Given the description of an element on the screen output the (x, y) to click on. 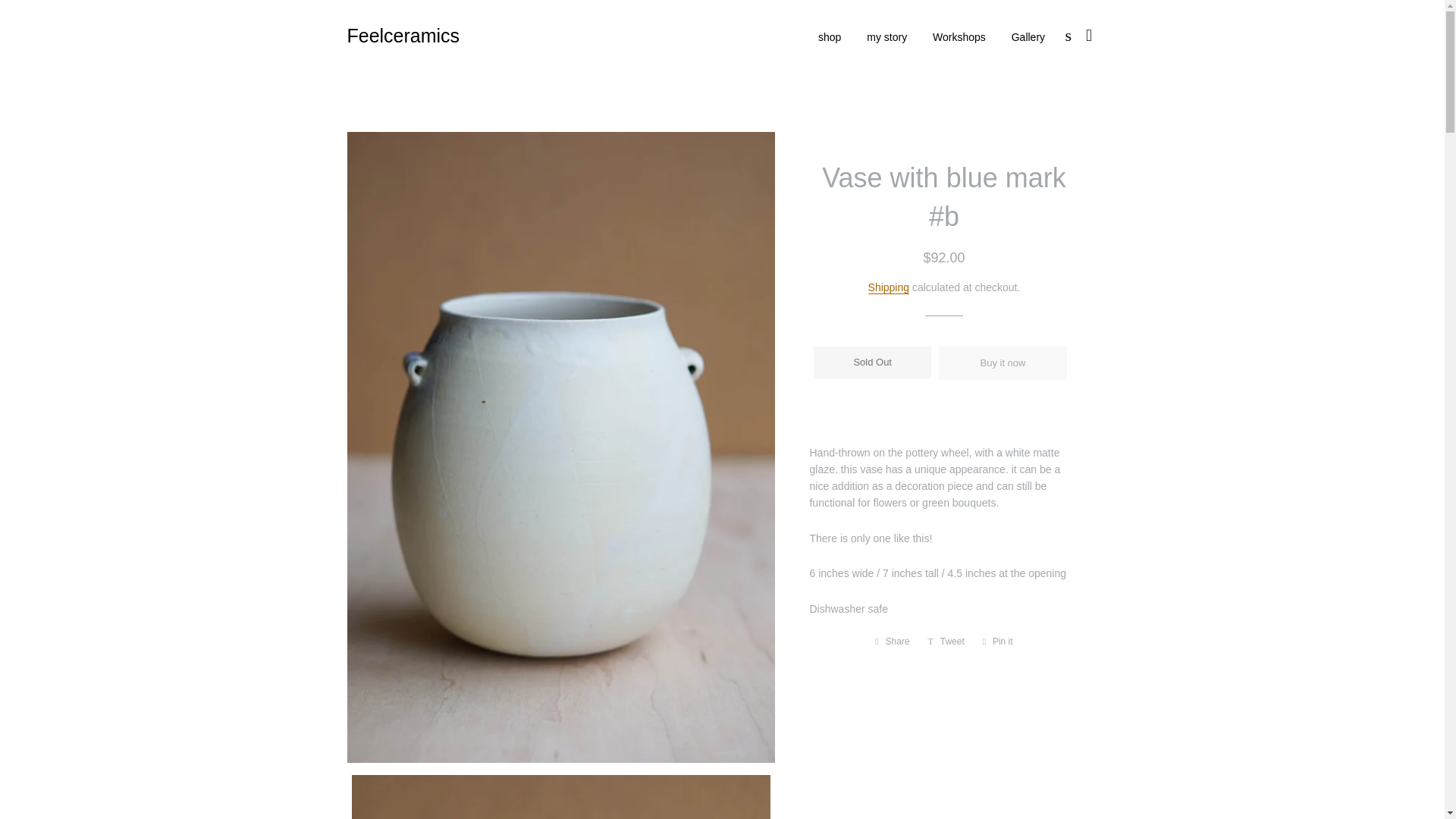
Sold Out (872, 362)
Feelceramics (403, 35)
Share on Facebook (892, 641)
Tweet on Twitter (946, 641)
my story (892, 641)
Workshops (887, 37)
Buy it now (959, 37)
Gallery (1003, 363)
